Given the description of an element on the screen output the (x, y) to click on. 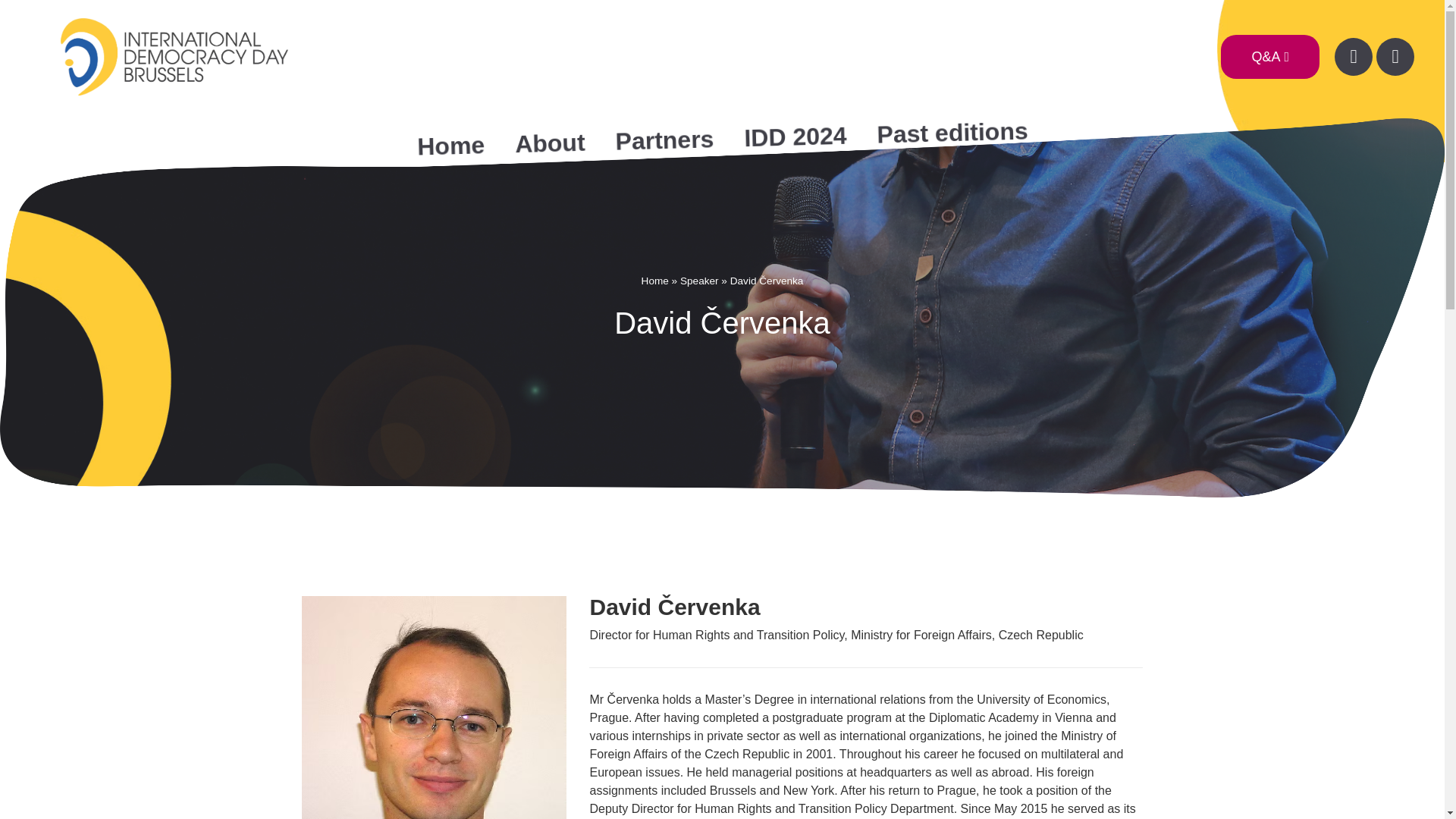
IDD 2024 (794, 134)
Partners (664, 138)
Past editions (951, 130)
About (548, 141)
Speaker (699, 280)
Home (655, 280)
Home (450, 144)
